Given the description of an element on the screen output the (x, y) to click on. 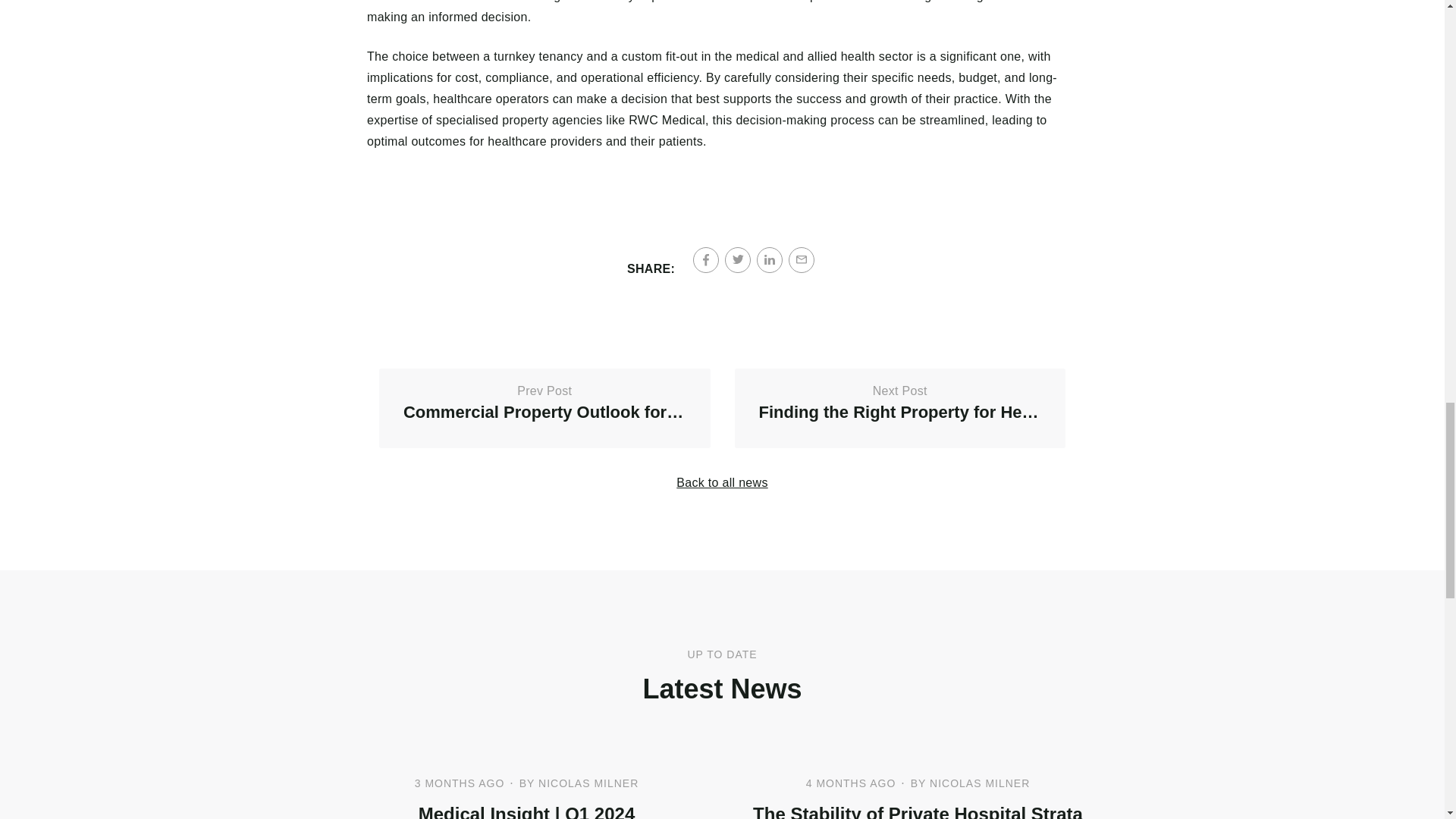
LinkedIn (544, 407)
Twitter (770, 259)
Back to all news (738, 259)
Facebook (722, 481)
Email (706, 259)
